Given the description of an element on the screen output the (x, y) to click on. 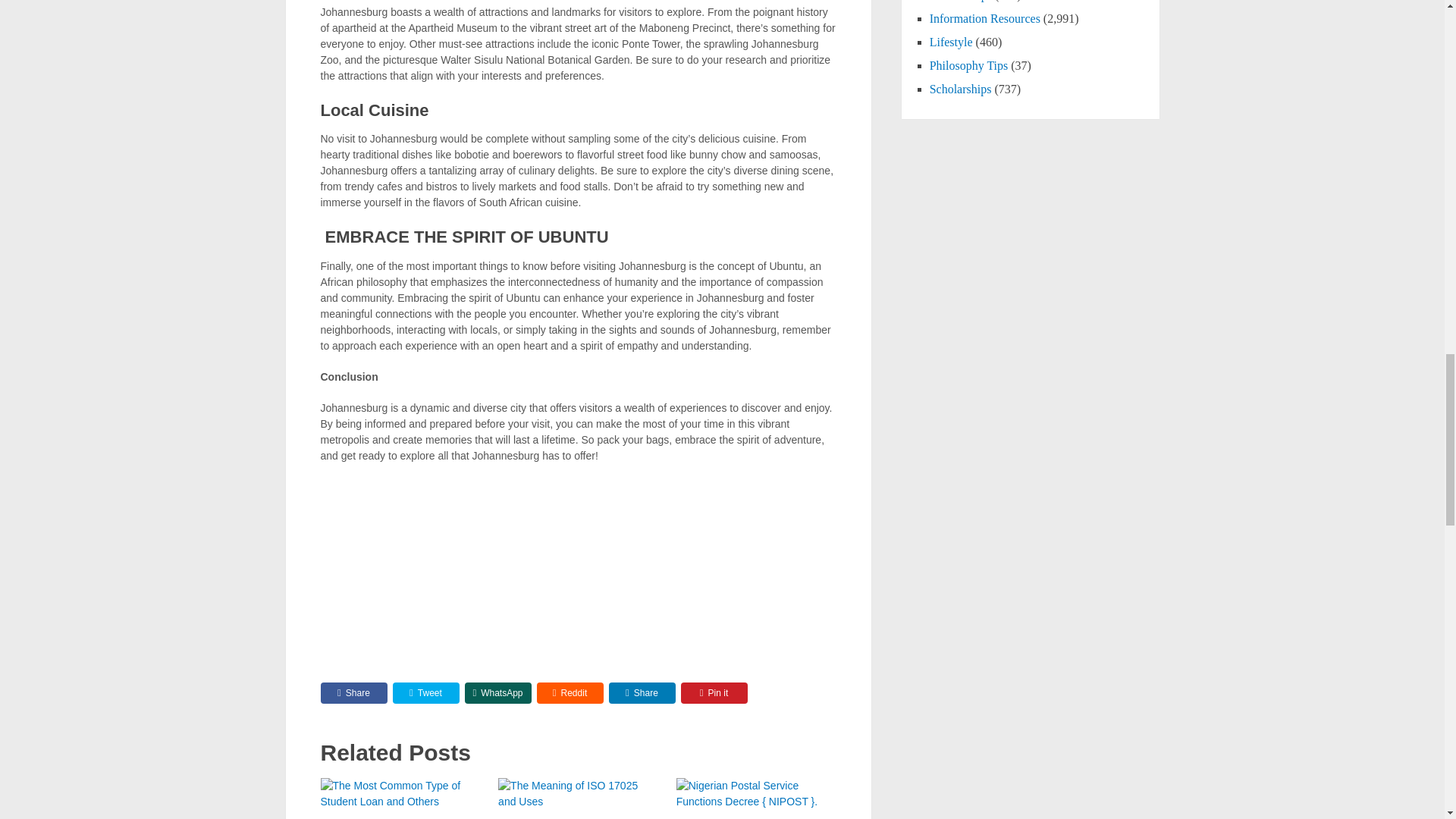
The Most Common Type of Student Loan and Others (400, 798)
Tweet (426, 692)
Share (353, 692)
Reddit (570, 692)
The Meaning of ISO 17025 and Uses (577, 798)
Pin it (714, 692)
WhatsApp (497, 692)
Share (641, 692)
